Given the description of an element on the screen output the (x, y) to click on. 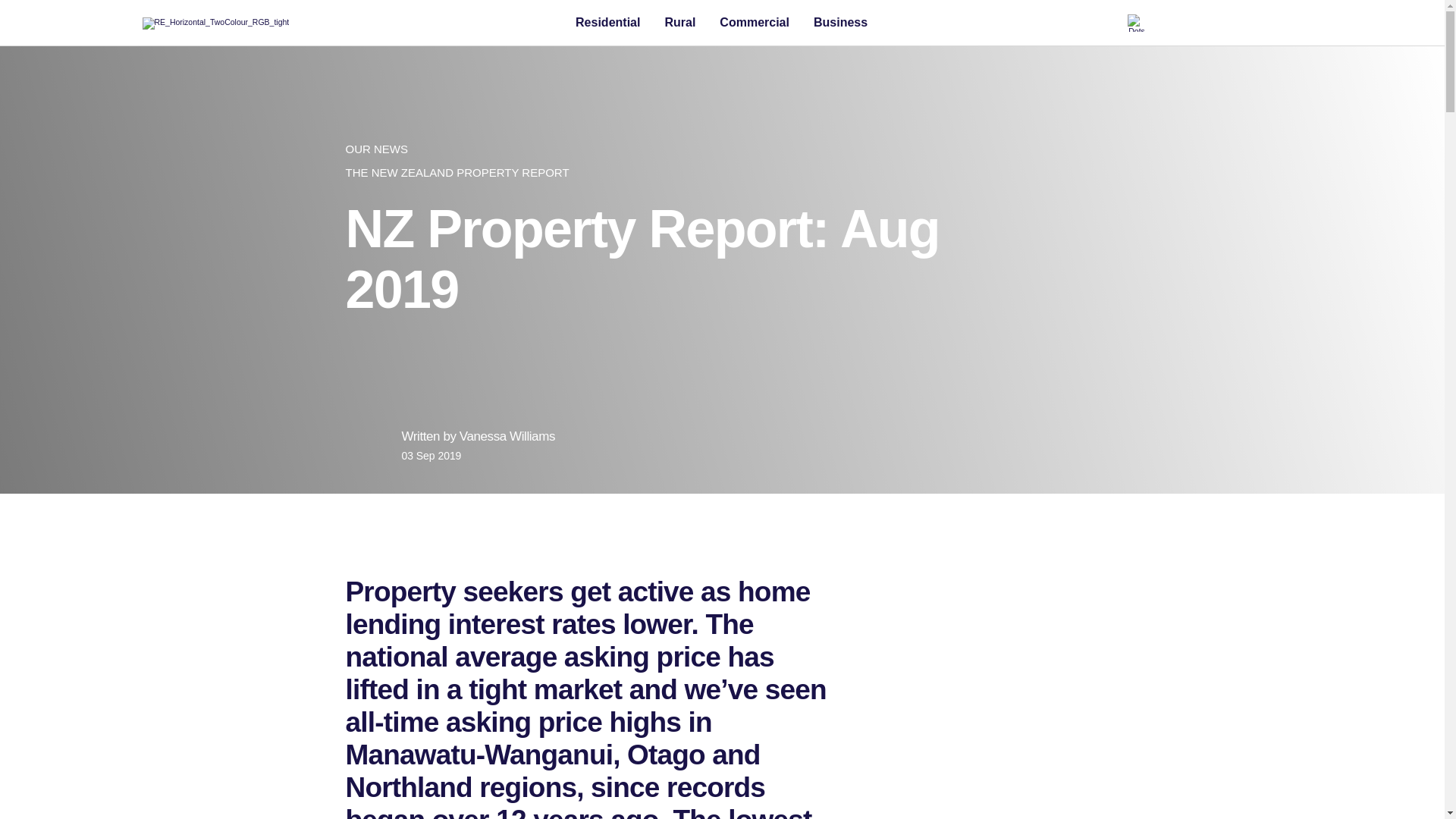
OUR NEWS (722, 148)
Commercial (754, 22)
Residential (608, 22)
Business (835, 22)
THE NEW ZEALAND PROPERTY REPORT (722, 172)
Rural (679, 22)
Written by Vanessa Williams (477, 435)
